Given the description of an element on the screen output the (x, y) to click on. 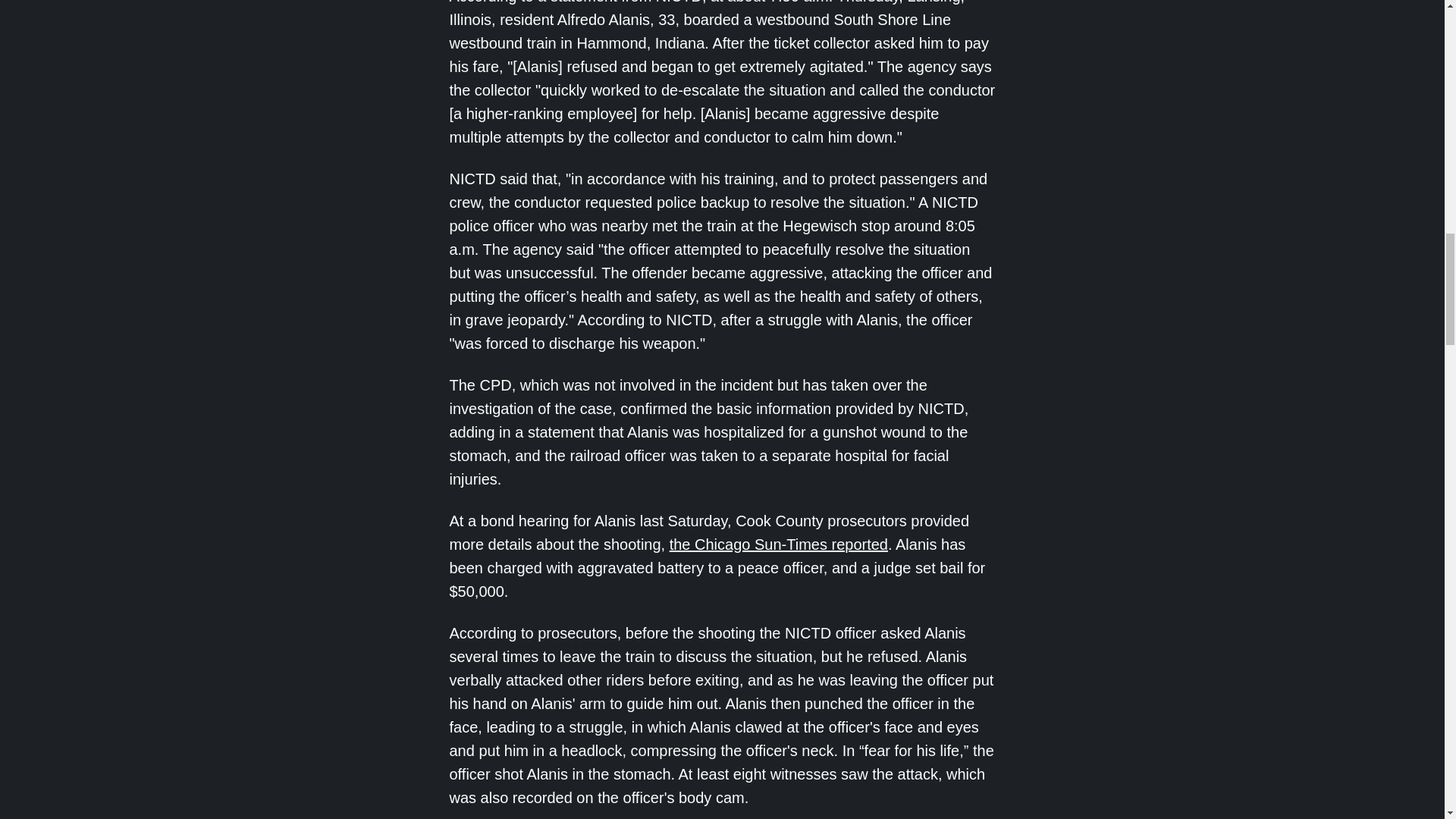
the Chicago Sun-Times reported (778, 544)
